Given the description of an element on the screen output the (x, y) to click on. 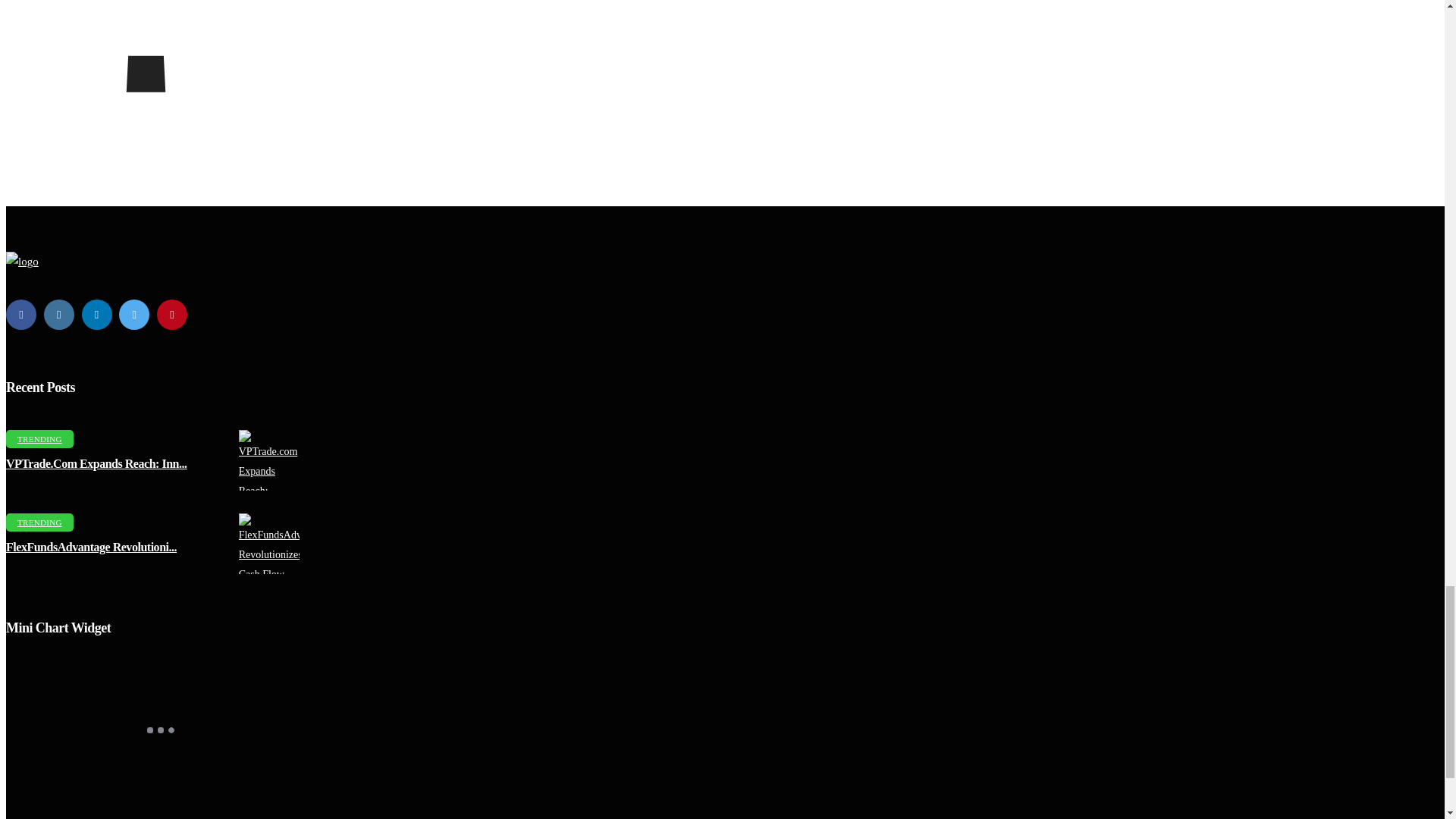
Round white dining table on brown hardwood (276, 543)
Round white dining table on brown hardwood (276, 459)
mini symbol-overview TradingView widget (159, 730)
